Given the description of an element on the screen output the (x, y) to click on. 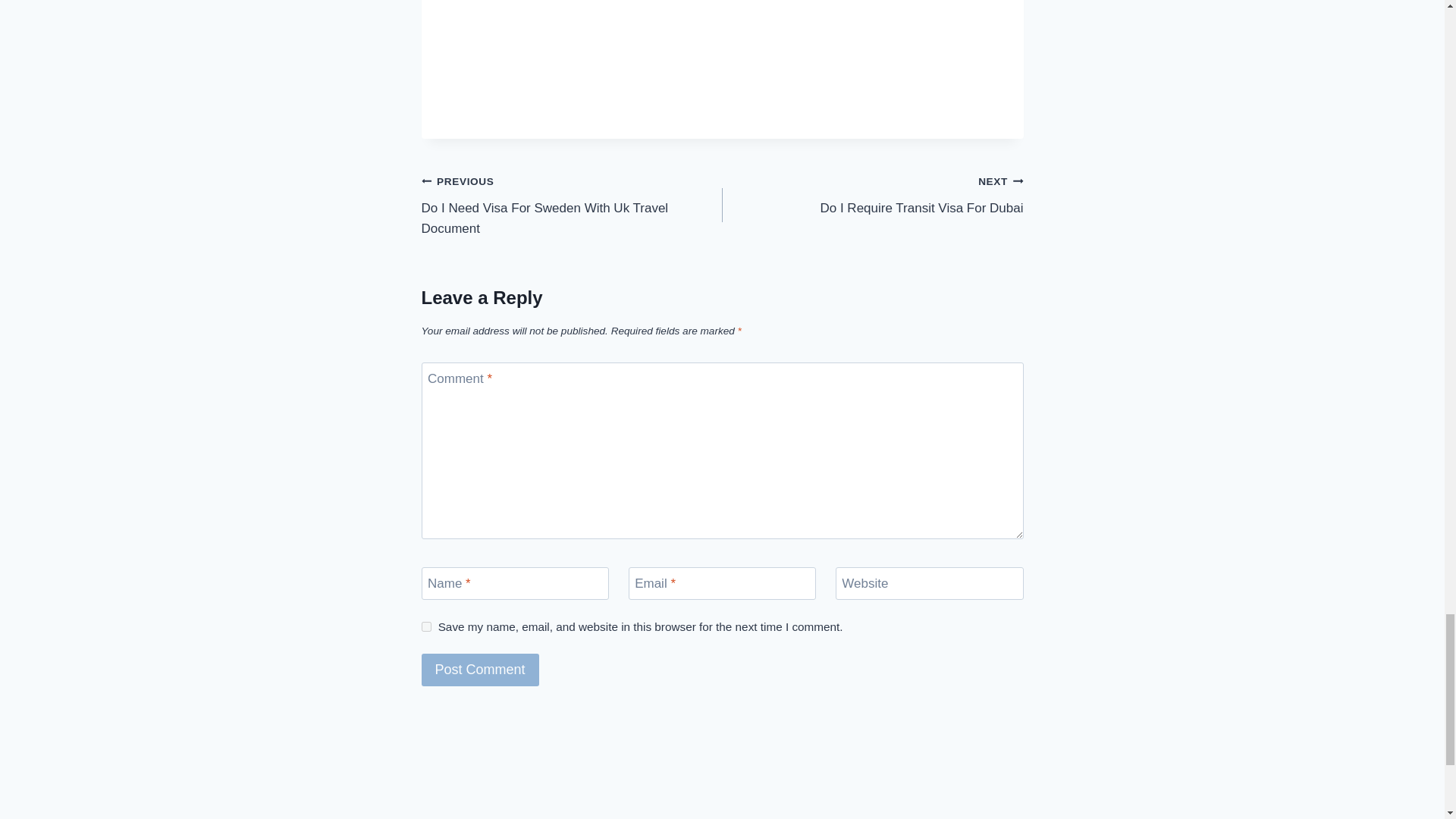
Post Comment (480, 669)
yes (426, 626)
Post Comment (572, 204)
